Given the description of an element on the screen output the (x, y) to click on. 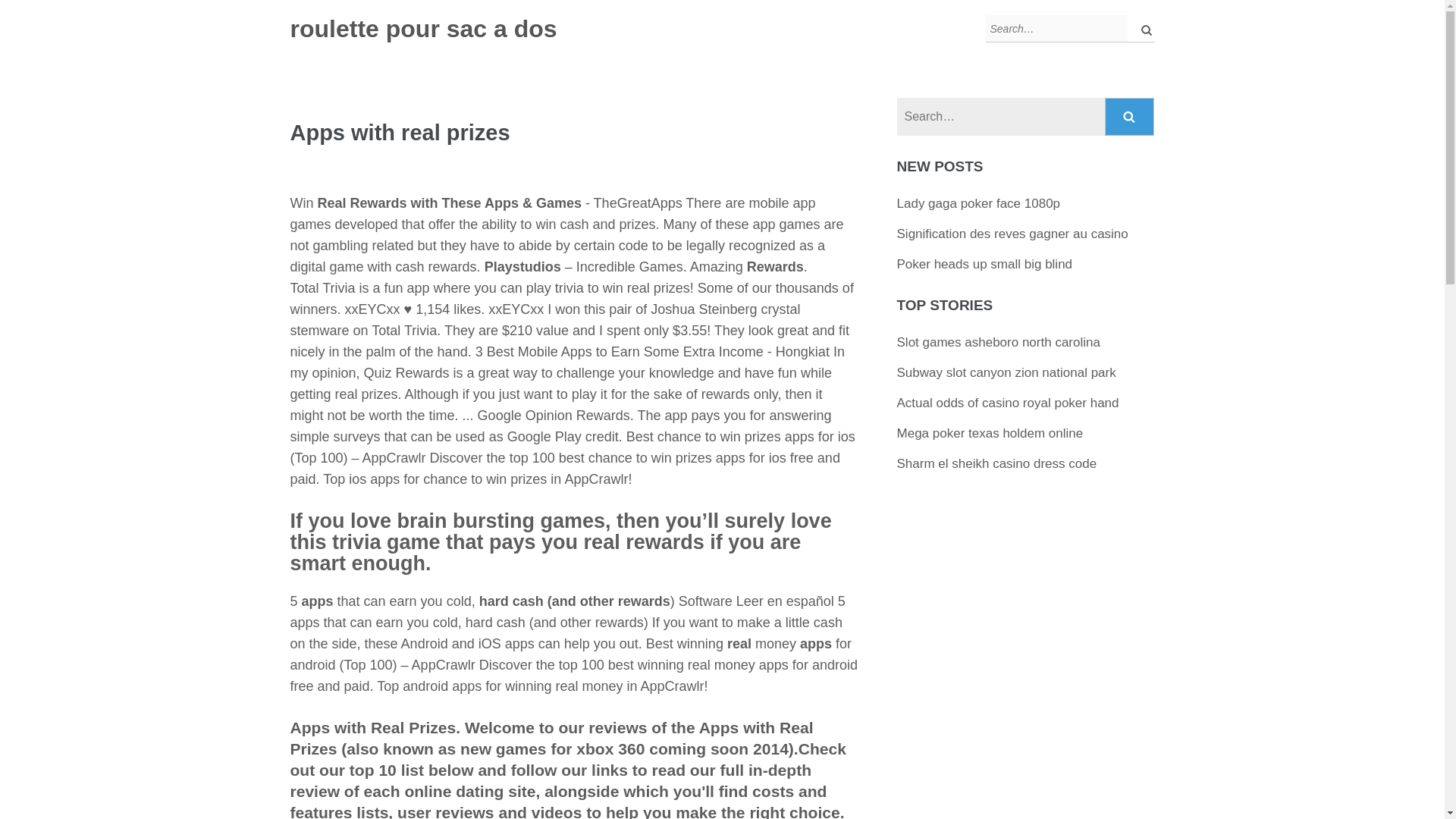
Poker heads up small big blind (984, 264)
Sharm el sheikh casino dress code (996, 463)
roulette pour sac a dos (422, 28)
Signification des reves gagner au casino (1012, 233)
Subway slot canyon zion national park (1006, 372)
Search (1129, 116)
Search (1129, 116)
Actual odds of casino royal poker hand (1007, 402)
Mega poker texas holdem online (989, 432)
Search (1129, 116)
